Given the description of an element on the screen output the (x, y) to click on. 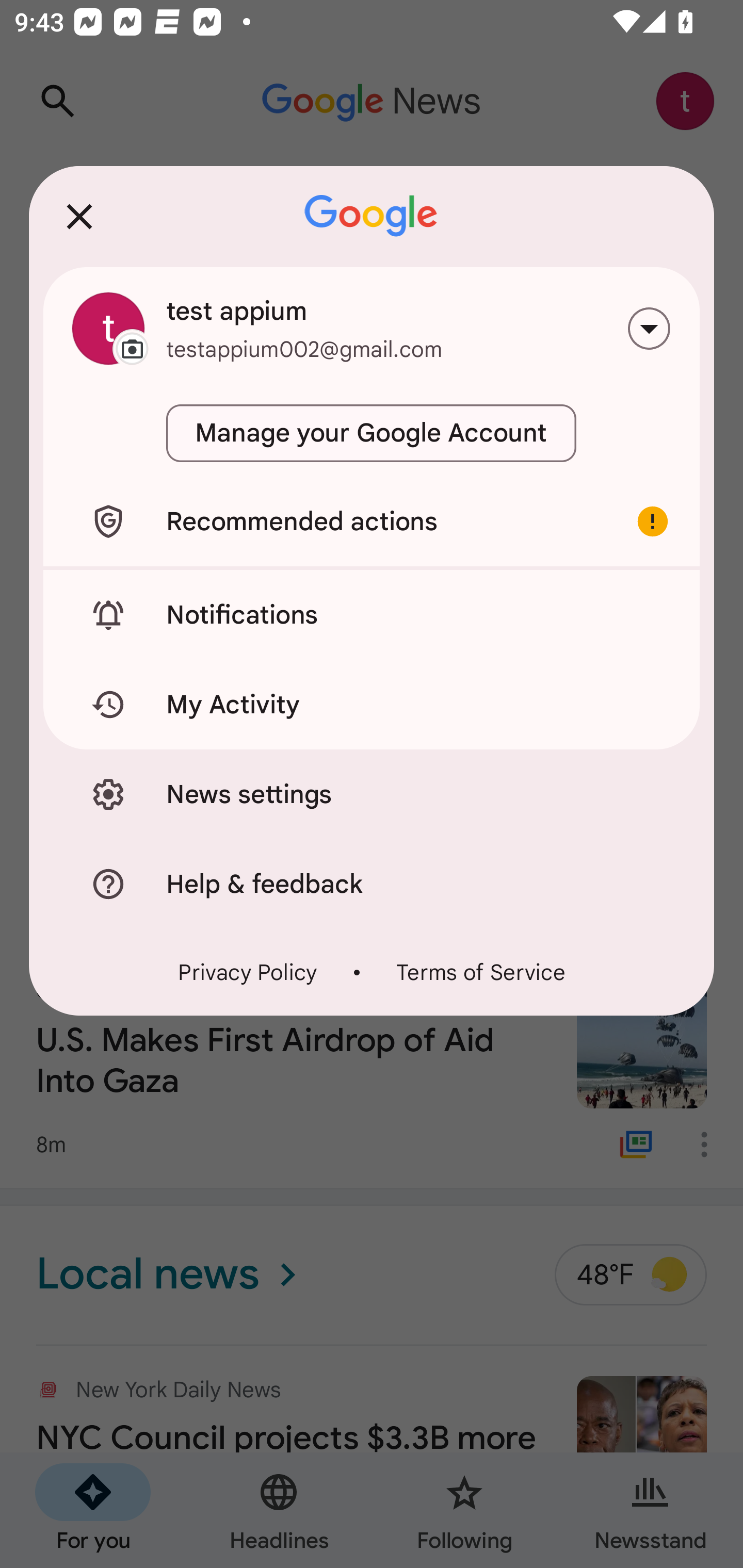
Close (79, 216)
Change profile picture. (108, 328)
Manage your Google Account (371, 433)
Recommended actions Important account alert (371, 521)
Notifications (371, 614)
My Activity (371, 704)
News settings (371, 793)
Help & feedback (371, 883)
Privacy Policy (247, 972)
Terms of Service (479, 972)
